Given the description of an element on the screen output the (x, y) to click on. 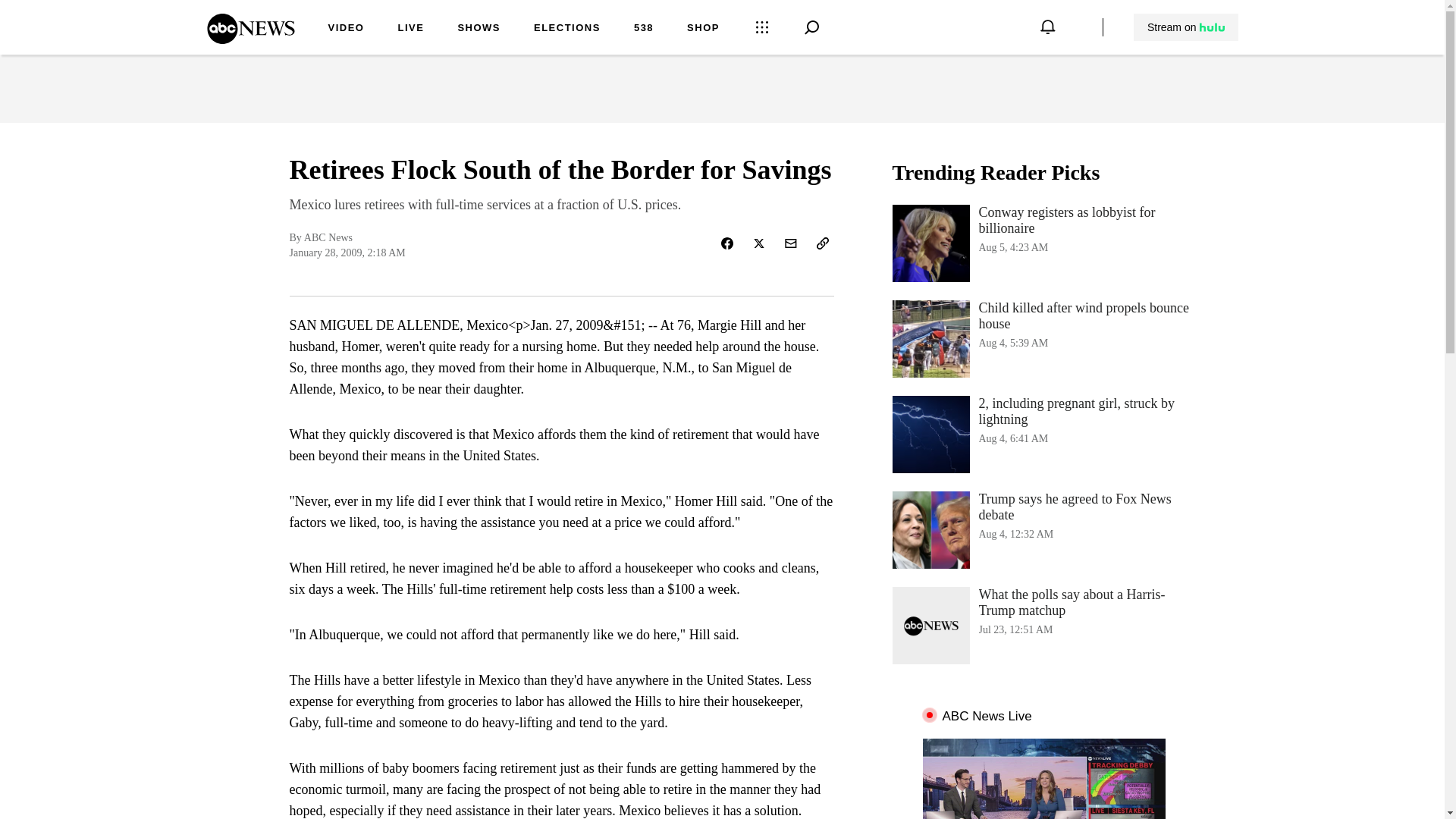
VIDEO (345, 28)
Stream on (1185, 27)
SHOWS (478, 28)
SHOP (1043, 242)
ABC News (703, 28)
LIVE (1043, 529)
ELECTIONS (1043, 338)
Stream on (250, 38)
538 (410, 28)
